Given the description of an element on the screen output the (x, y) to click on. 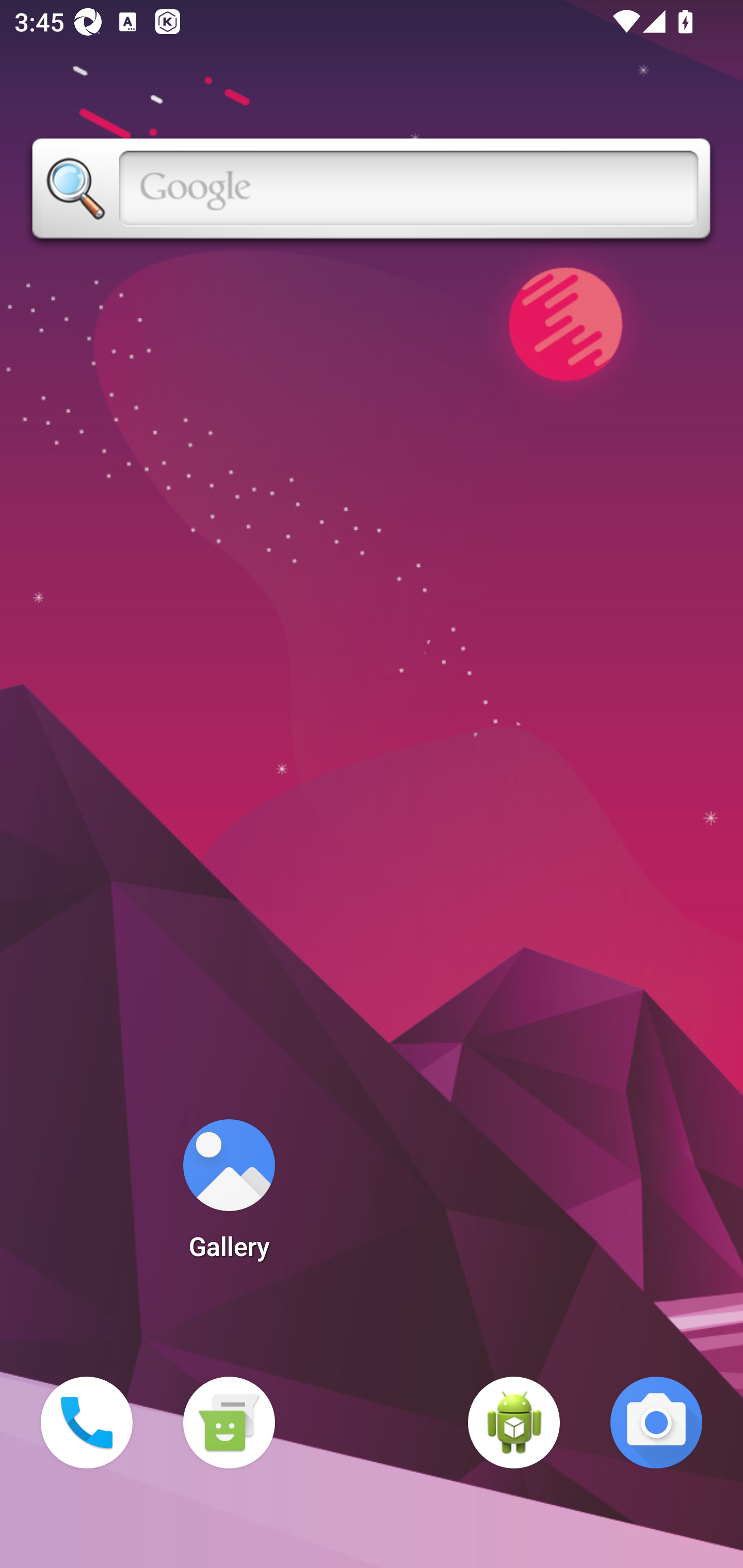
Gallery (228, 1195)
Phone (86, 1422)
Messaging (228, 1422)
WebView Browser Tester (513, 1422)
Camera (656, 1422)
